Given the description of an element on the screen output the (x, y) to click on. 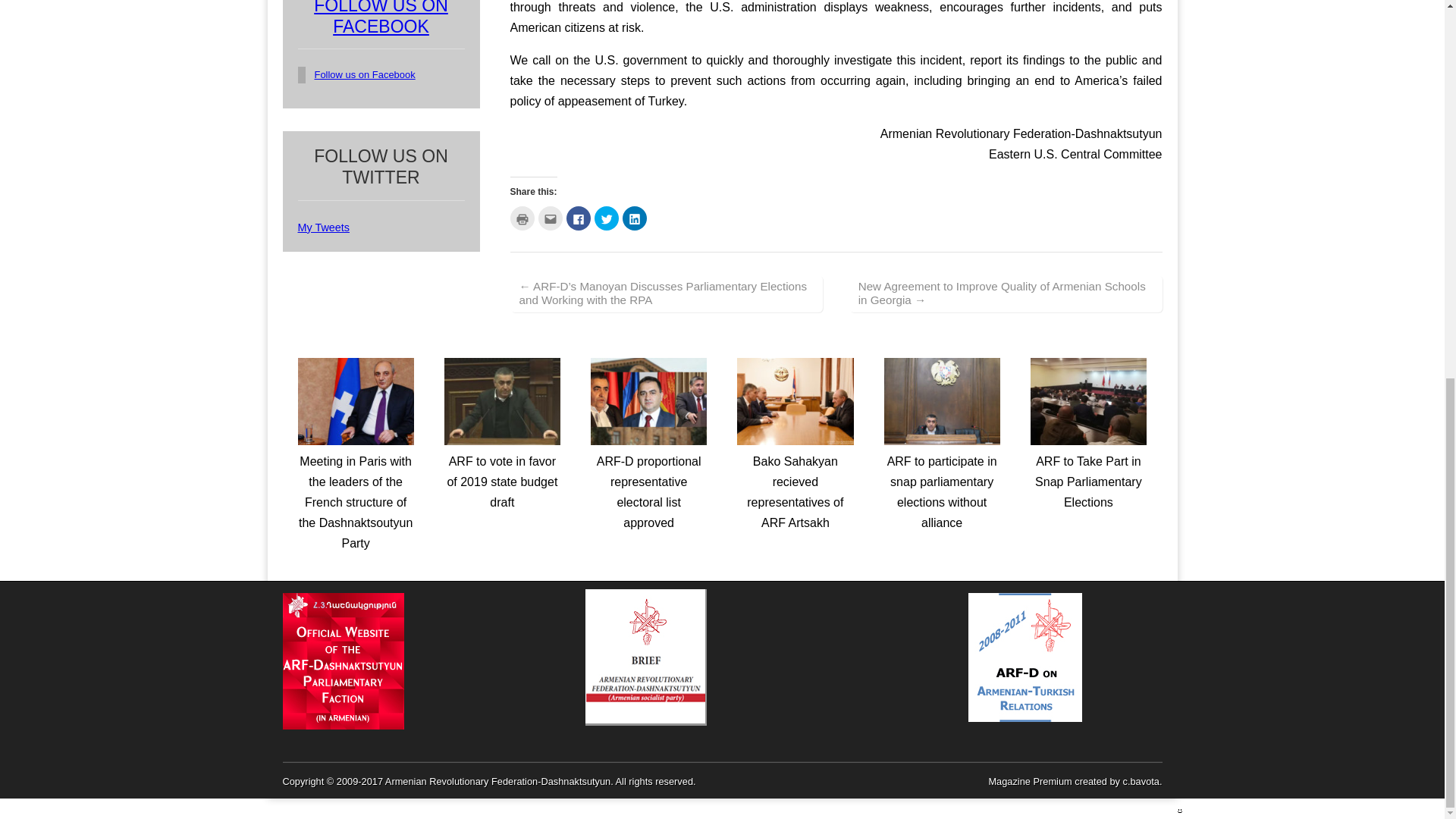
Click to email this to a friend (550, 218)
Click to share on Twitter (606, 218)
FOLLOW US ON FACEBOOK (381, 18)
Click to share on Facebook (577, 218)
Click to print (521, 218)
Follow us on Facebook (364, 74)
Click to share on LinkedIn (633, 218)
Brief - ARF-Dashnaktsutyun  (645, 722)
